Given the description of an element on the screen output the (x, y) to click on. 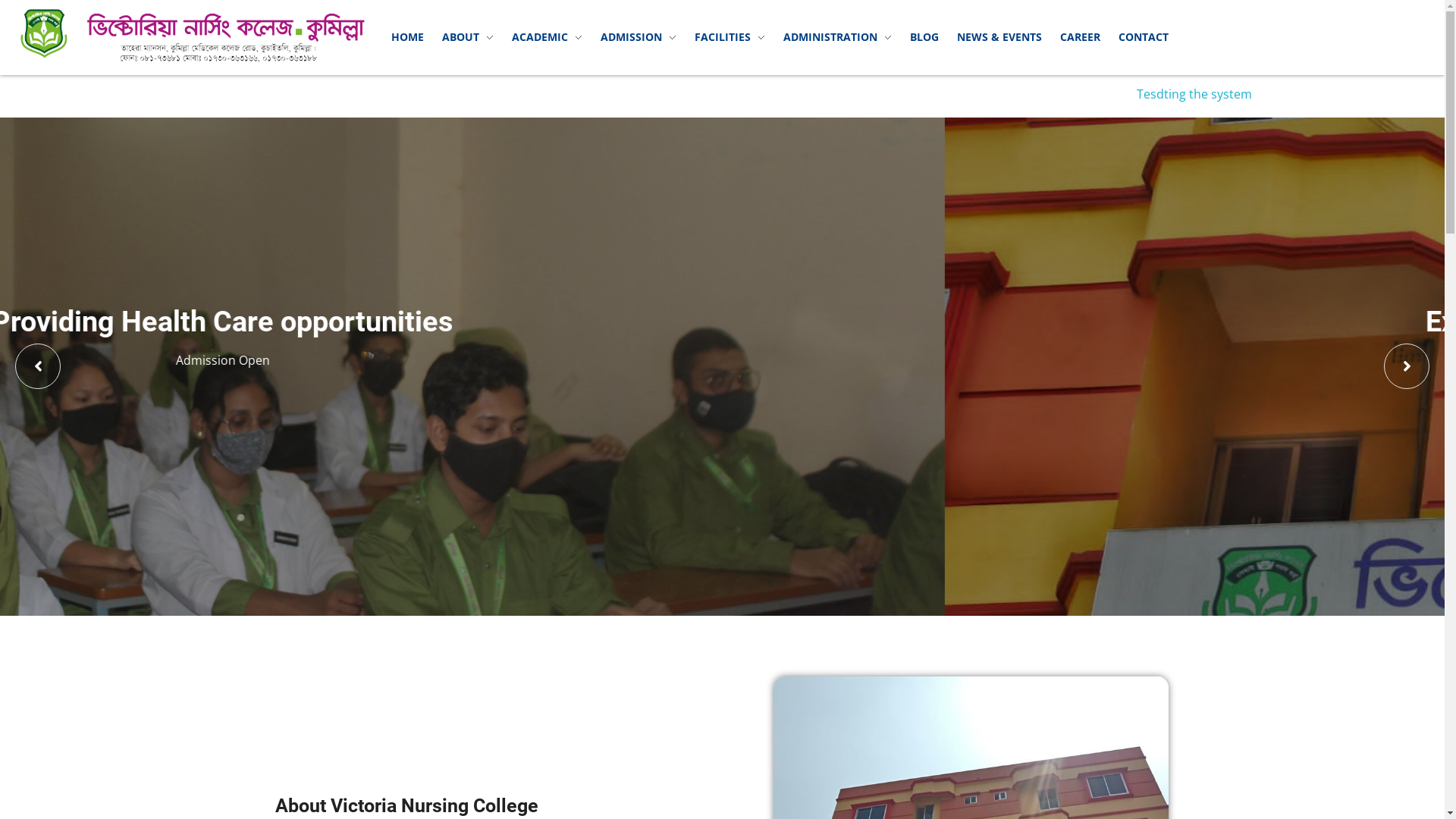
ACADEMIC Element type: text (546, 36)
HOME Element type: text (407, 36)
ADMINISTRATION Element type: text (837, 36)
NEWS & EVENTS Element type: text (999, 36)
Victoria Nursing College Element type: text (123, 71)
Tesdting the system Element type: text (1234, 93)
BLOG Element type: text (923, 36)
ADMISSION Element type: text (638, 36)
Victoria Nursing College Element type: hover (192, 34)
CAREER Element type: text (1080, 36)
CONTACT Element type: text (1143, 36)
ABOUT Element type: text (467, 36)
FACILITIES Element type: text (729, 36)
